Given the description of an element on the screen output the (x, y) to click on. 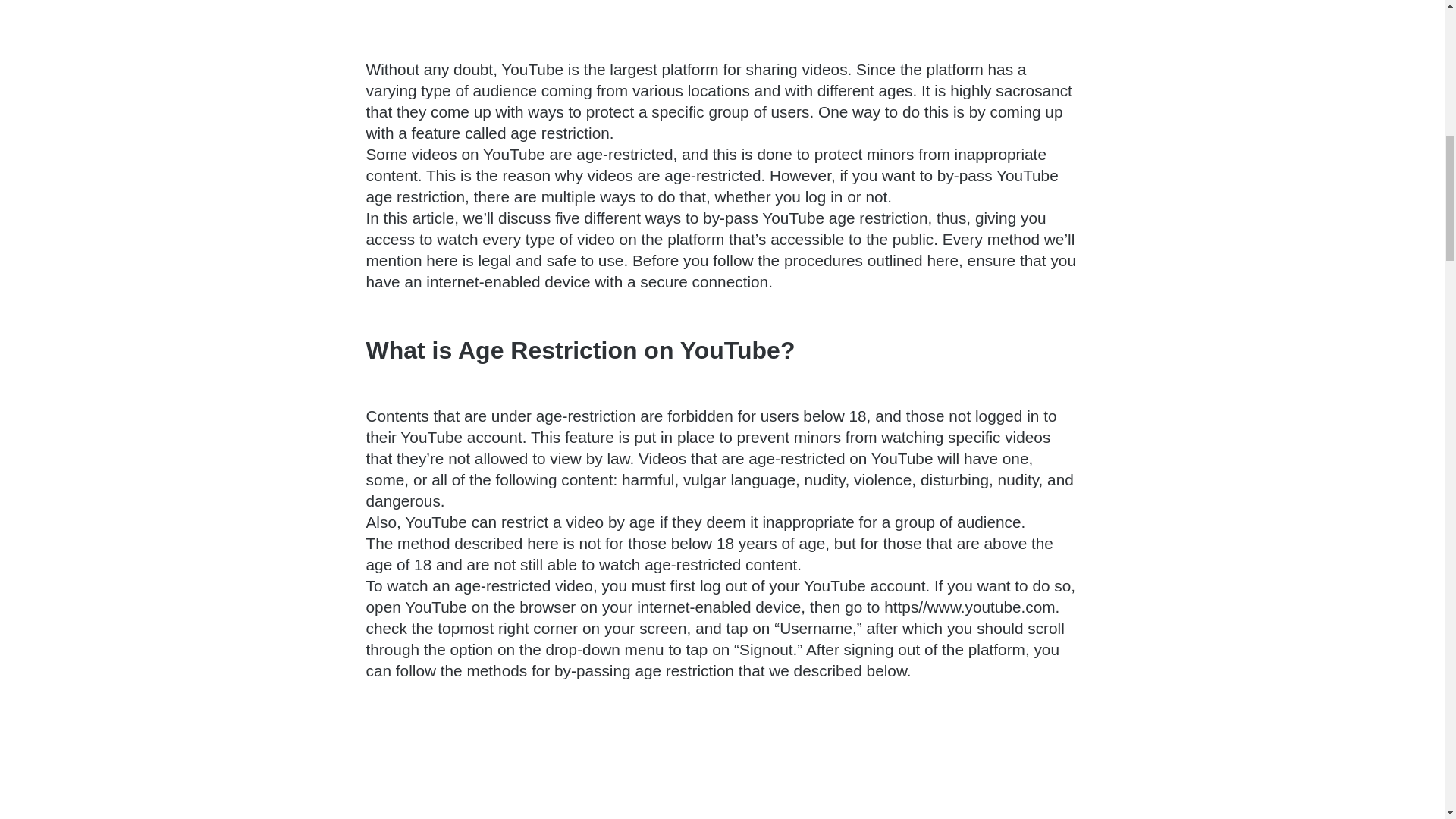
why videos are age-restricted (657, 175)
